Given the description of an element on the screen output the (x, y) to click on. 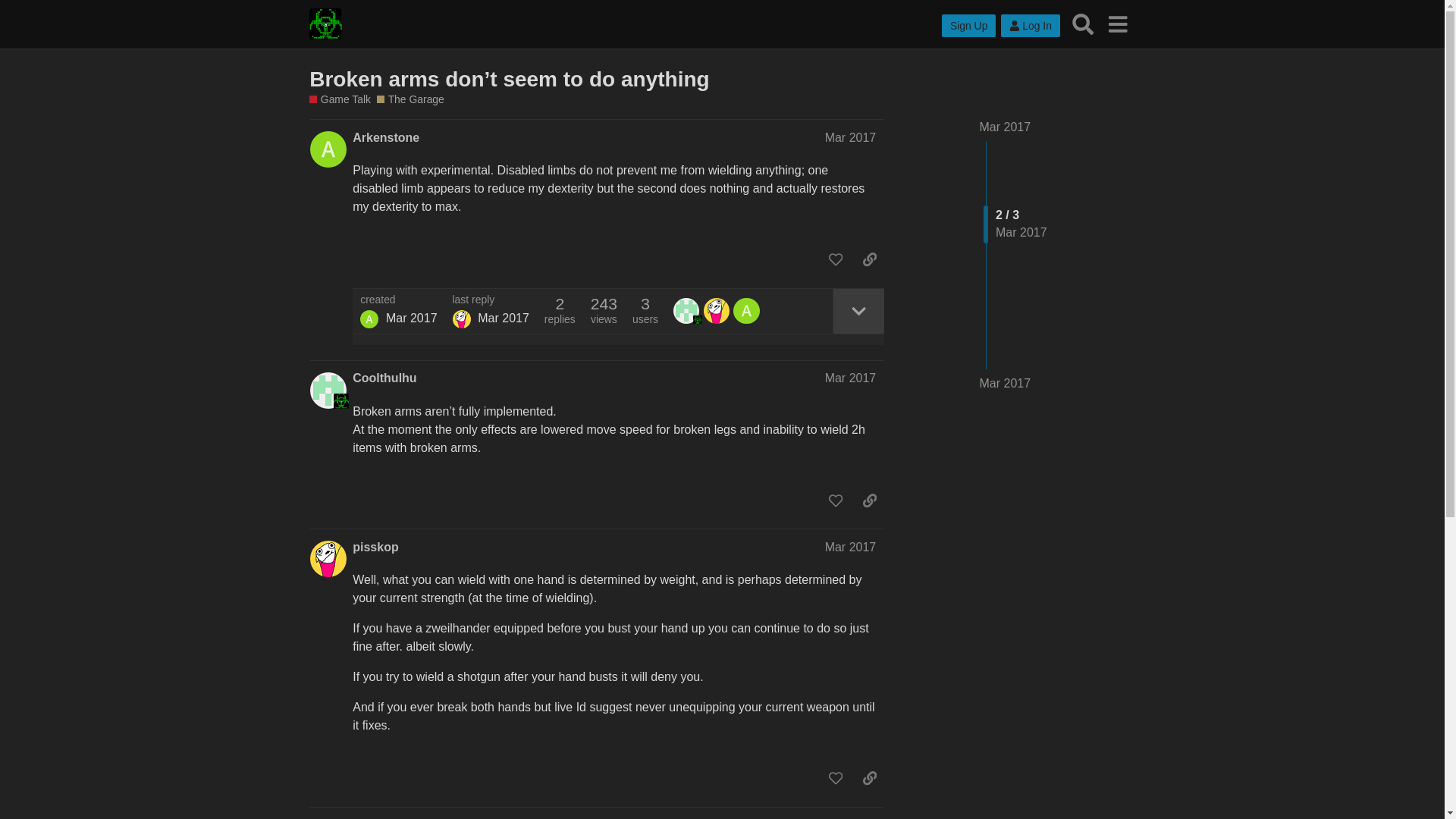
Search (1082, 23)
Mar 2017 (850, 377)
Arkenstone (368, 319)
Mar 2017 (850, 546)
copy a link to this post to clipboard (869, 258)
Mar 4, 2017 7:20 am (503, 318)
Log In (1030, 25)
pisskop (461, 319)
like this post (835, 258)
Mar 2017 (1004, 383)
Sign Up (968, 25)
Jump to the last post (1004, 382)
Arkenstone (385, 137)
menu (1117, 23)
